Given the description of an element on the screen output the (x, y) to click on. 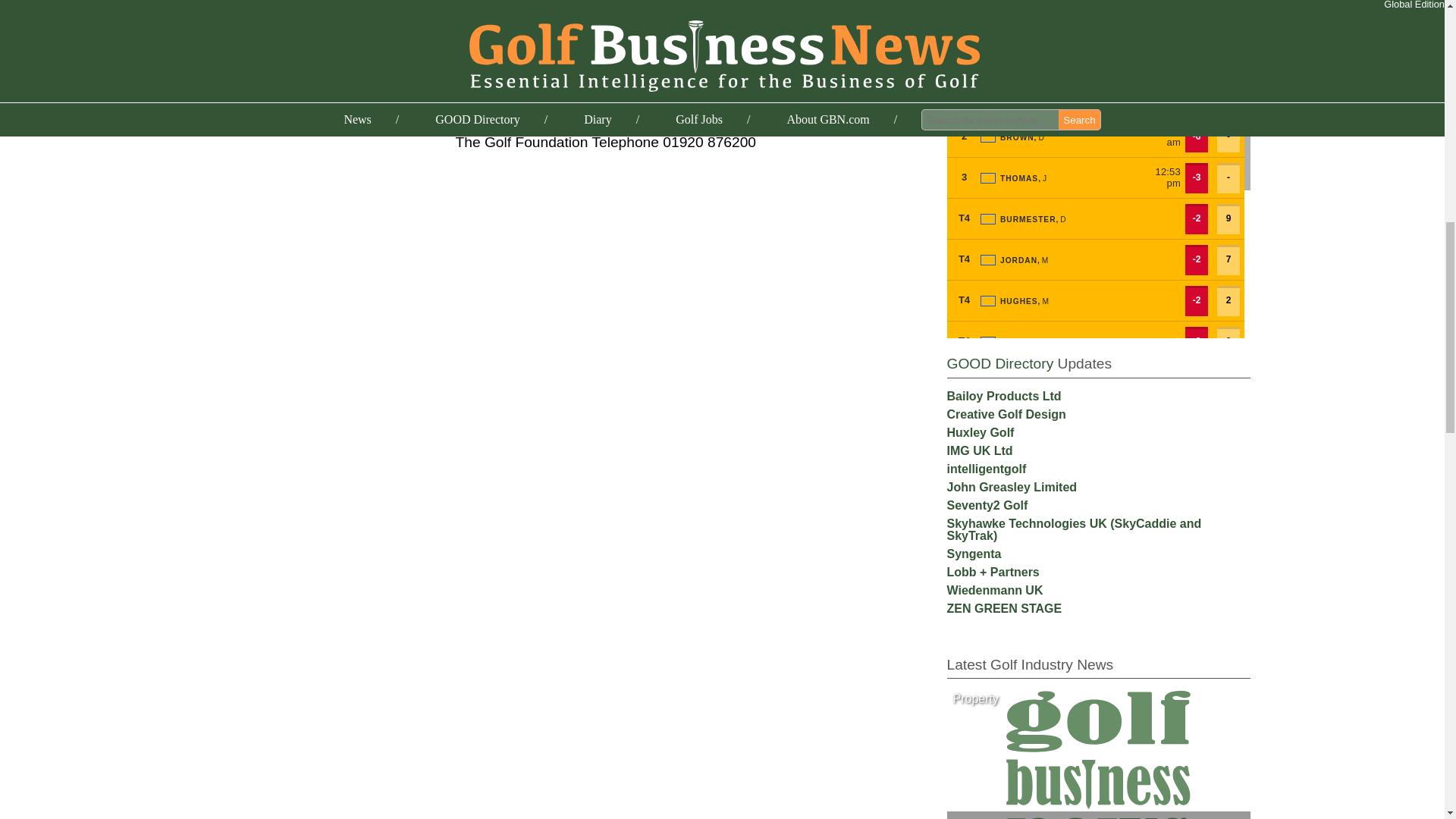
Wiedenmann UK (994, 590)
IMG UK Ltd (978, 450)
John Greasley Limited (1011, 486)
GOOD Directory (999, 363)
Open Championship Leaderboard (1097, 169)
Huxley Golf (979, 431)
Seventy2 Golf (986, 504)
ZEN GREEN STAGE (1003, 608)
Property (975, 698)
Syngenta (973, 553)
Creative Golf Design (1005, 413)
intelligentgolf (986, 468)
Bailoy Products Ltd (1003, 395)
